Given the description of an element on the screen output the (x, y) to click on. 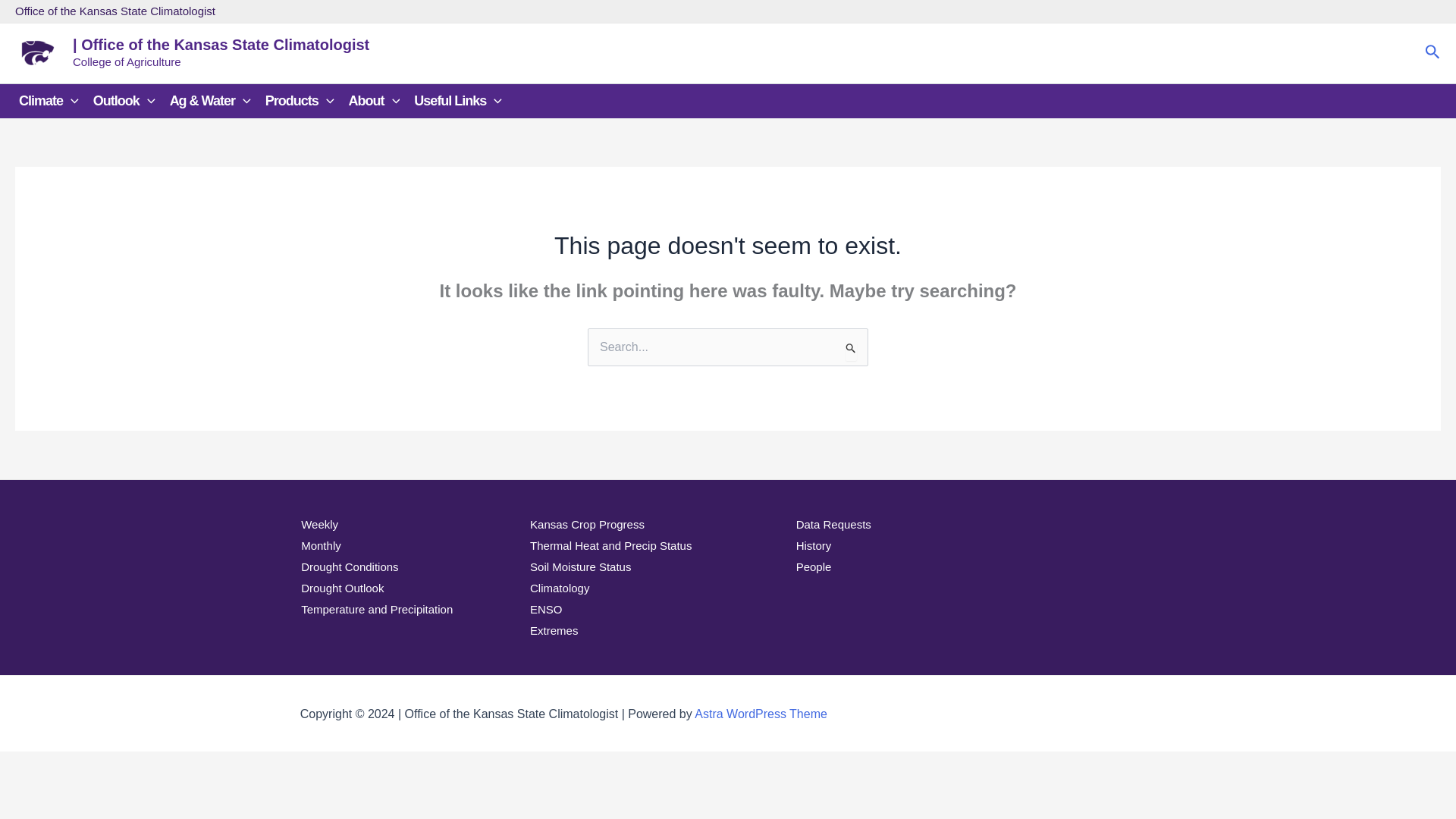
About (377, 100)
Office of the Kansas State Climatologist (114, 10)
Useful Links (461, 100)
Products (303, 100)
Outlook (126, 100)
Climate (51, 100)
